Given the description of an element on the screen output the (x, y) to click on. 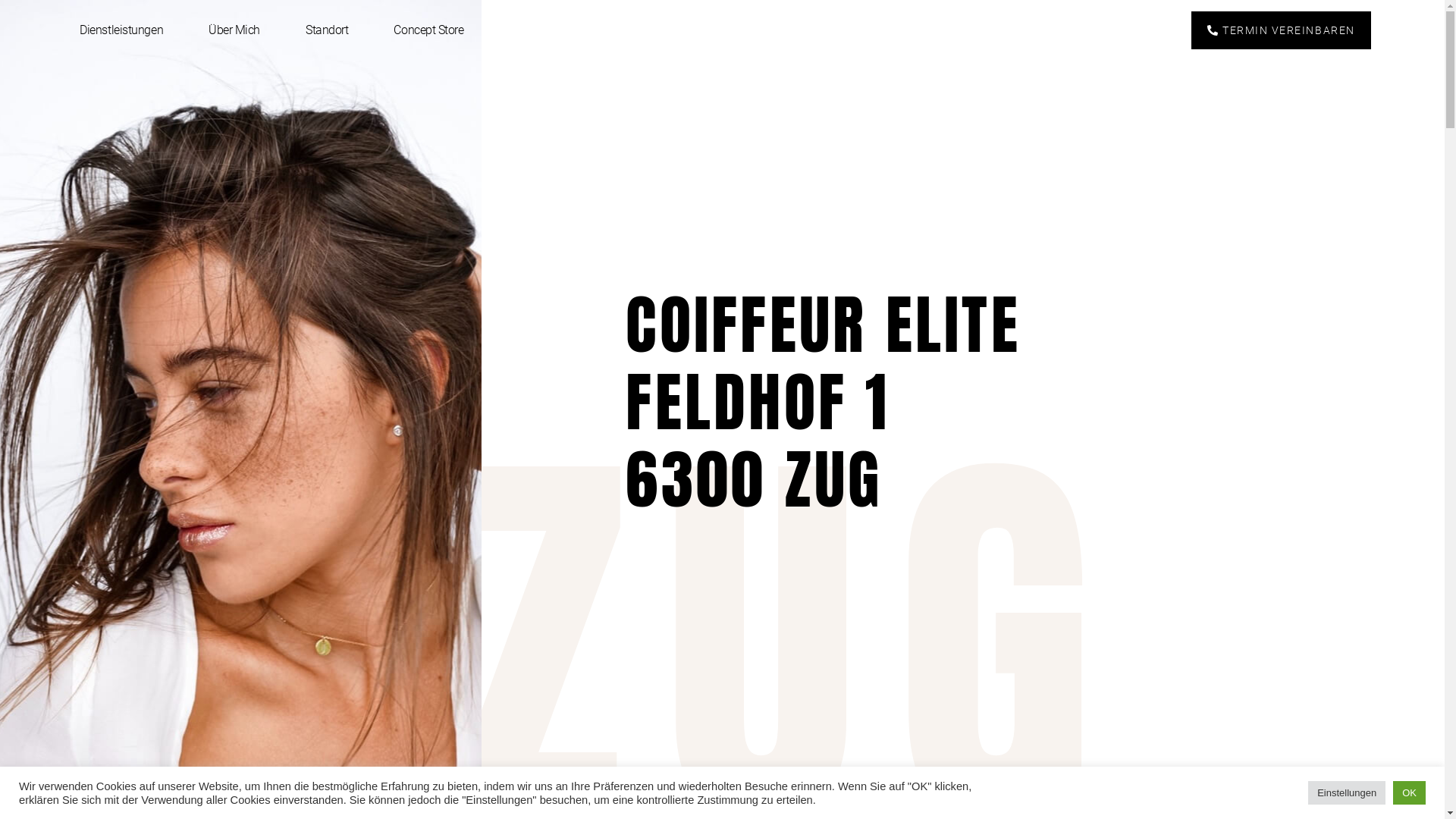
Standort Element type: text (326, 30)
OK Element type: text (1409, 792)
Concept Store Element type: text (427, 30)
Einstellungen Element type: text (1346, 792)
Dienstleistungen Element type: text (121, 30)
TERMIN VEREINBAREN Element type: text (1281, 30)
